Given the description of an element on the screen output the (x, y) to click on. 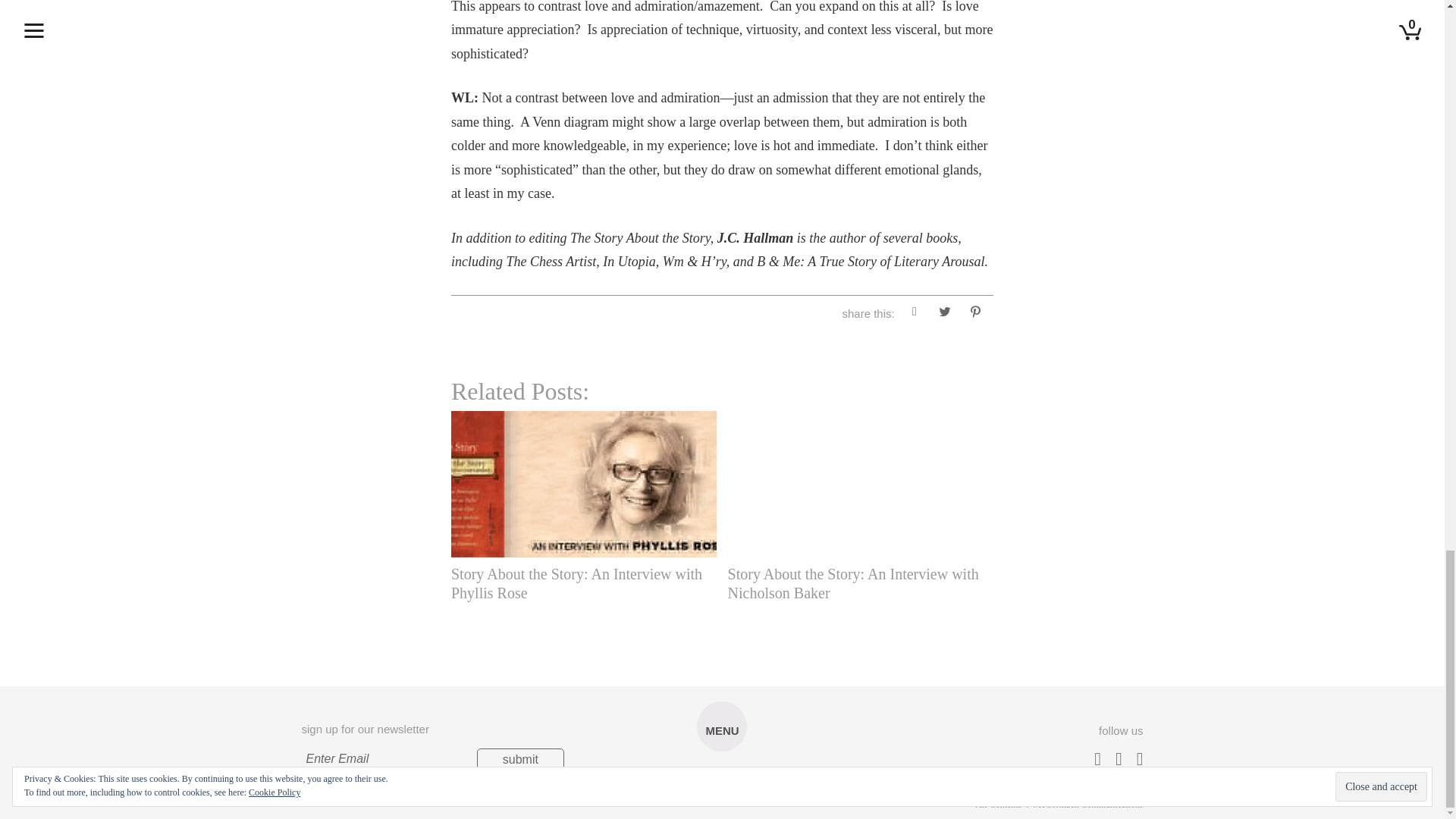
Click to share on Facebook (914, 313)
Click to share on Twitter (944, 313)
Created with Sketch. (721, 789)
Click to share on Pinterest (974, 313)
Submit (520, 759)
